Given the description of an element on the screen output the (x, y) to click on. 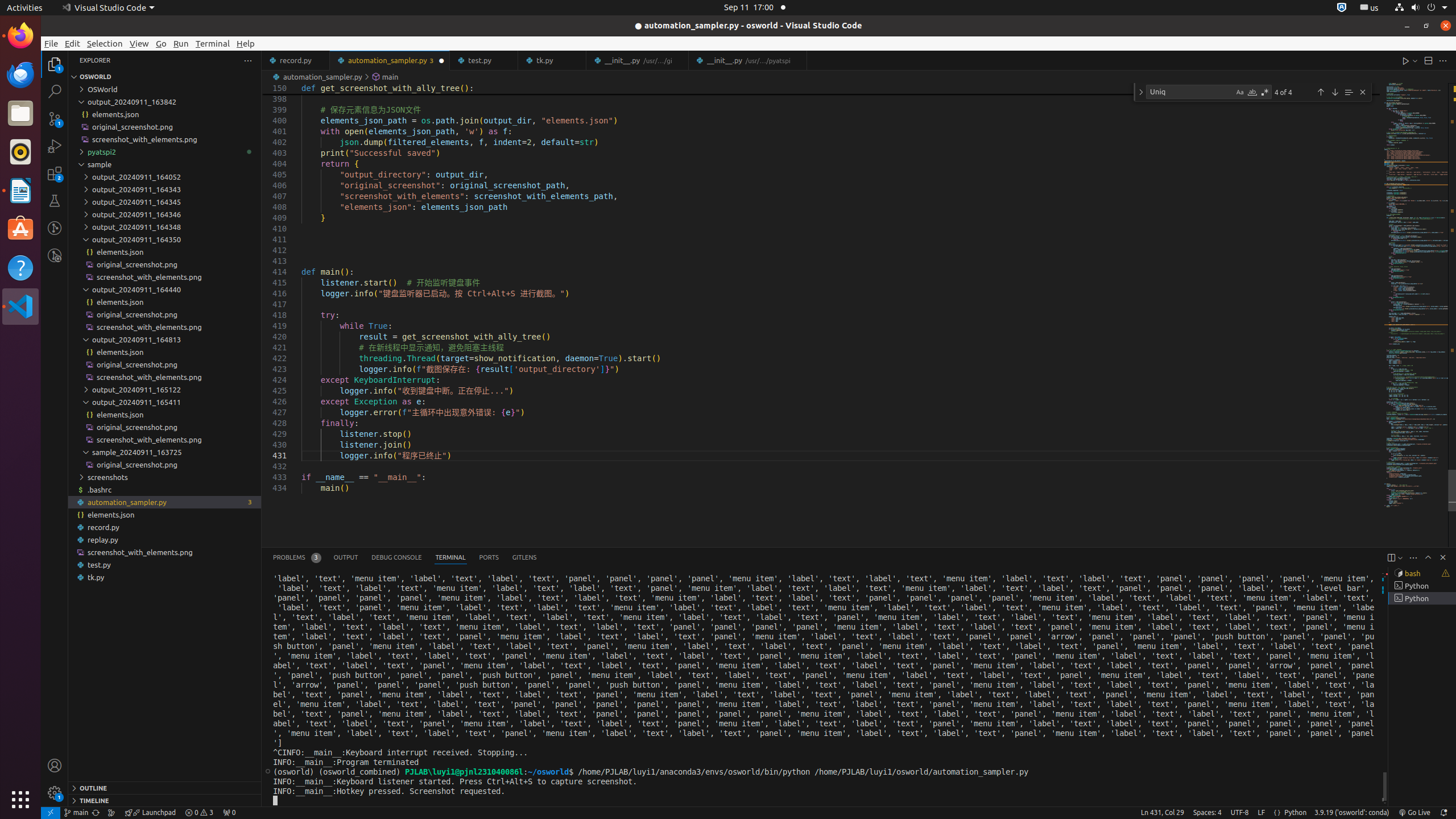
Find in Selection (Alt+L) Element type: check-box (1348, 91)
Toggle Replace Element type: push-button (1140, 92)
replay.py Element type: tree-item (164, 539)
Split Editor Right (Ctrl+\) [Alt] Split Editor Down Element type: push-button (1427, 60)
__init__.py Element type: page-tab (747, 60)
